Given the description of an element on the screen output the (x, y) to click on. 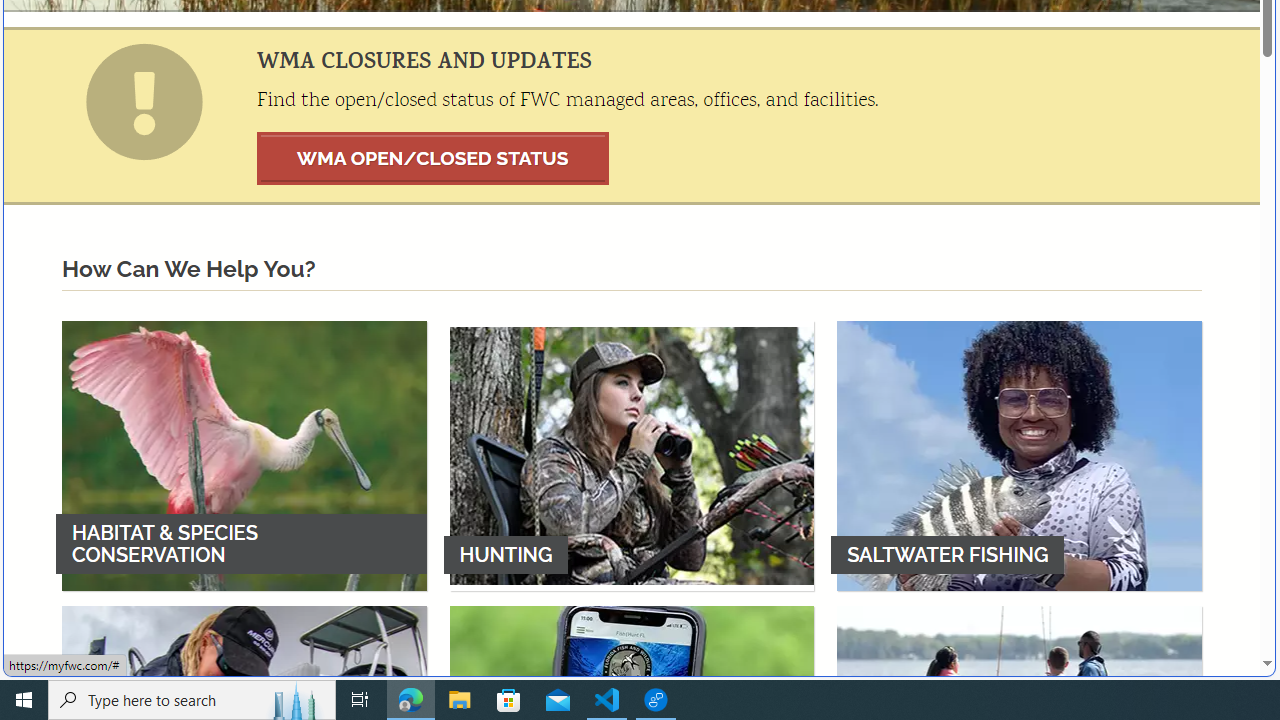
WMA OPEN/CLOSED STATUS (433, 158)
HABITAT & SPECIES CONSERVATION (244, 455)
HUNTING (632, 455)
SALTWATER FISHING (1019, 455)
